Given the description of an element on the screen output the (x, y) to click on. 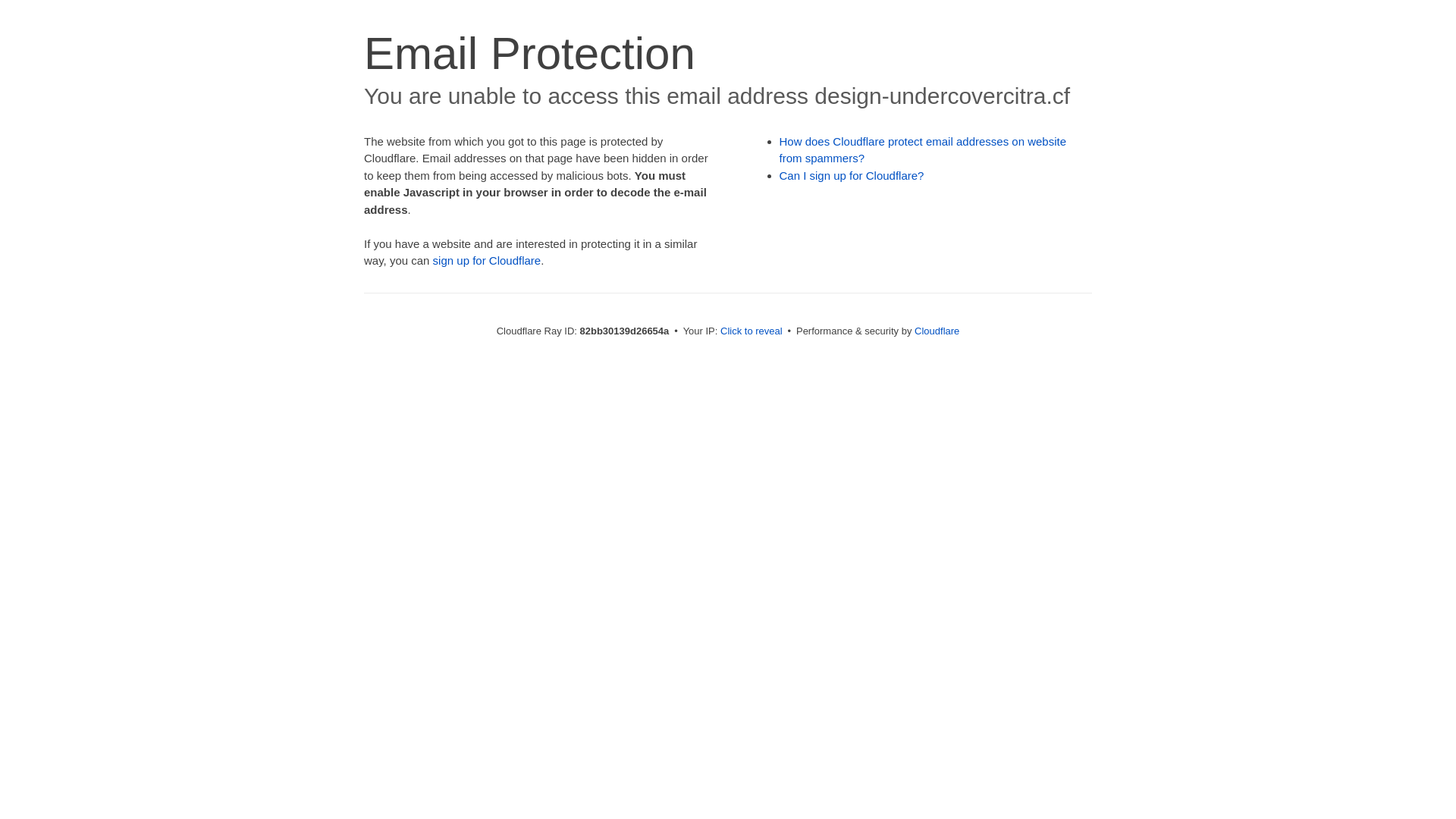
Click to reveal Element type: text (751, 330)
Can I sign up for Cloudflare? Element type: text (851, 175)
sign up for Cloudflare Element type: text (487, 260)
Cloudflare Element type: text (936, 330)
